Given the description of an element on the screen output the (x, y) to click on. 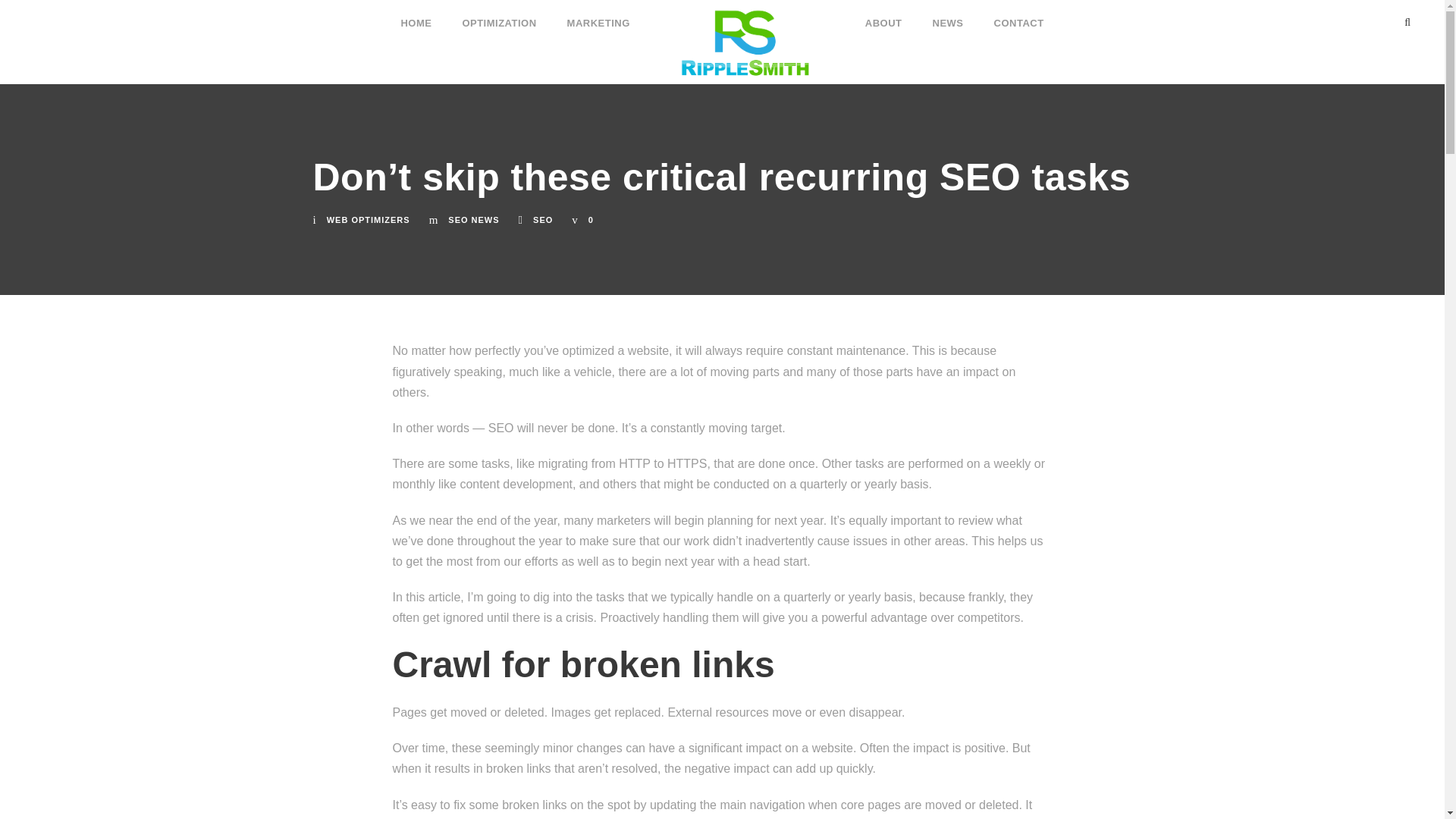
RippleSmith Services (747, 42)
MARKETING (598, 15)
NEWS (948, 15)
Posts by Web Optimizers (368, 219)
ABOUT (883, 15)
CONTACT (1018, 15)
OPTIMIZATION (498, 15)
WEB OPTIMIZERS (368, 219)
SEO (542, 219)
SEO NEWS (473, 219)
